Given the description of an element on the screen output the (x, y) to click on. 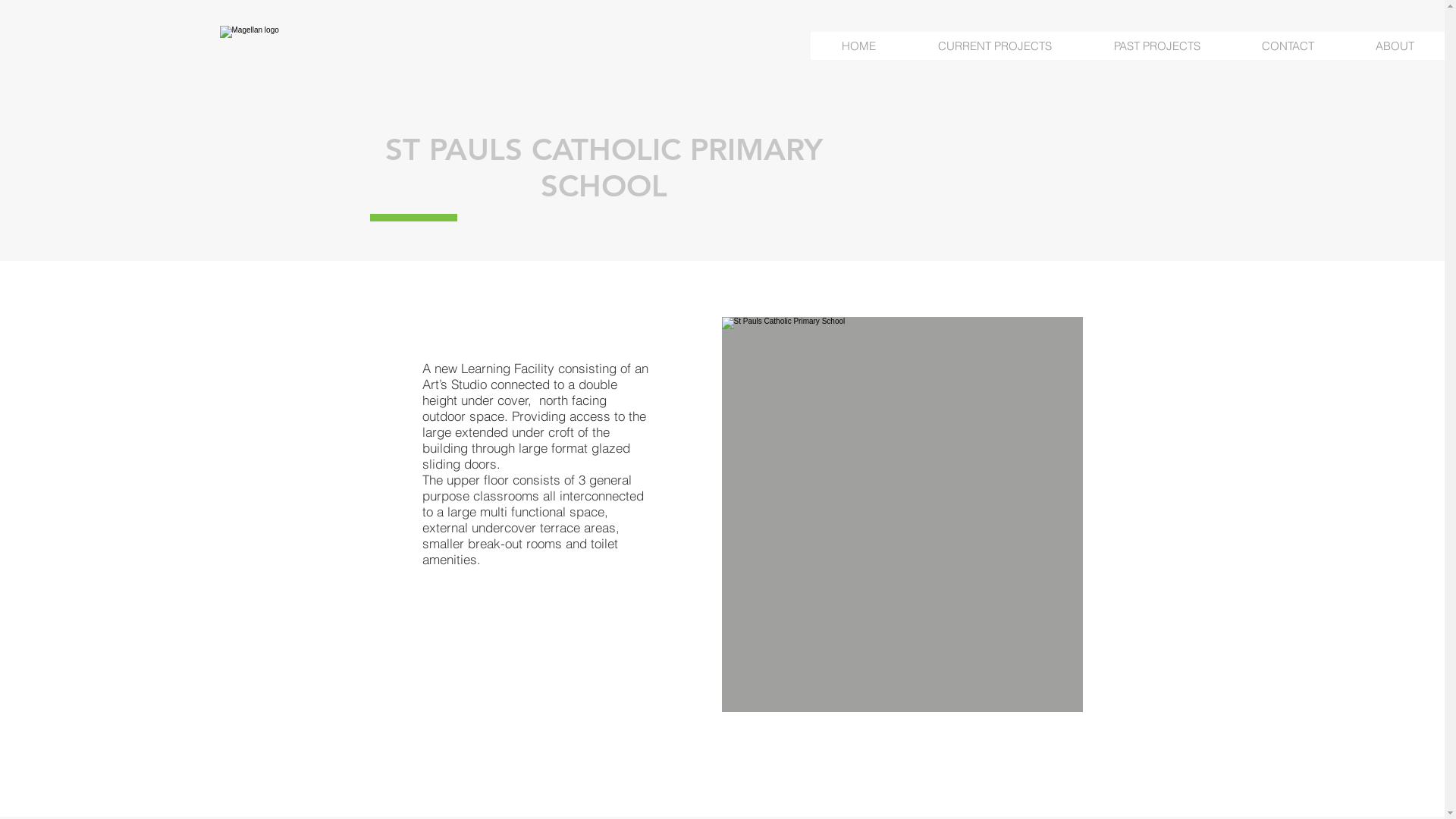
CONTACT Element type: text (1287, 45)
ABOUT Element type: text (1394, 45)
PAST PROJECTS Element type: text (1156, 45)
CURRENT PROJECTS Element type: text (994, 45)
HOME Element type: text (858, 45)
